Given the description of an element on the screen output the (x, y) to click on. 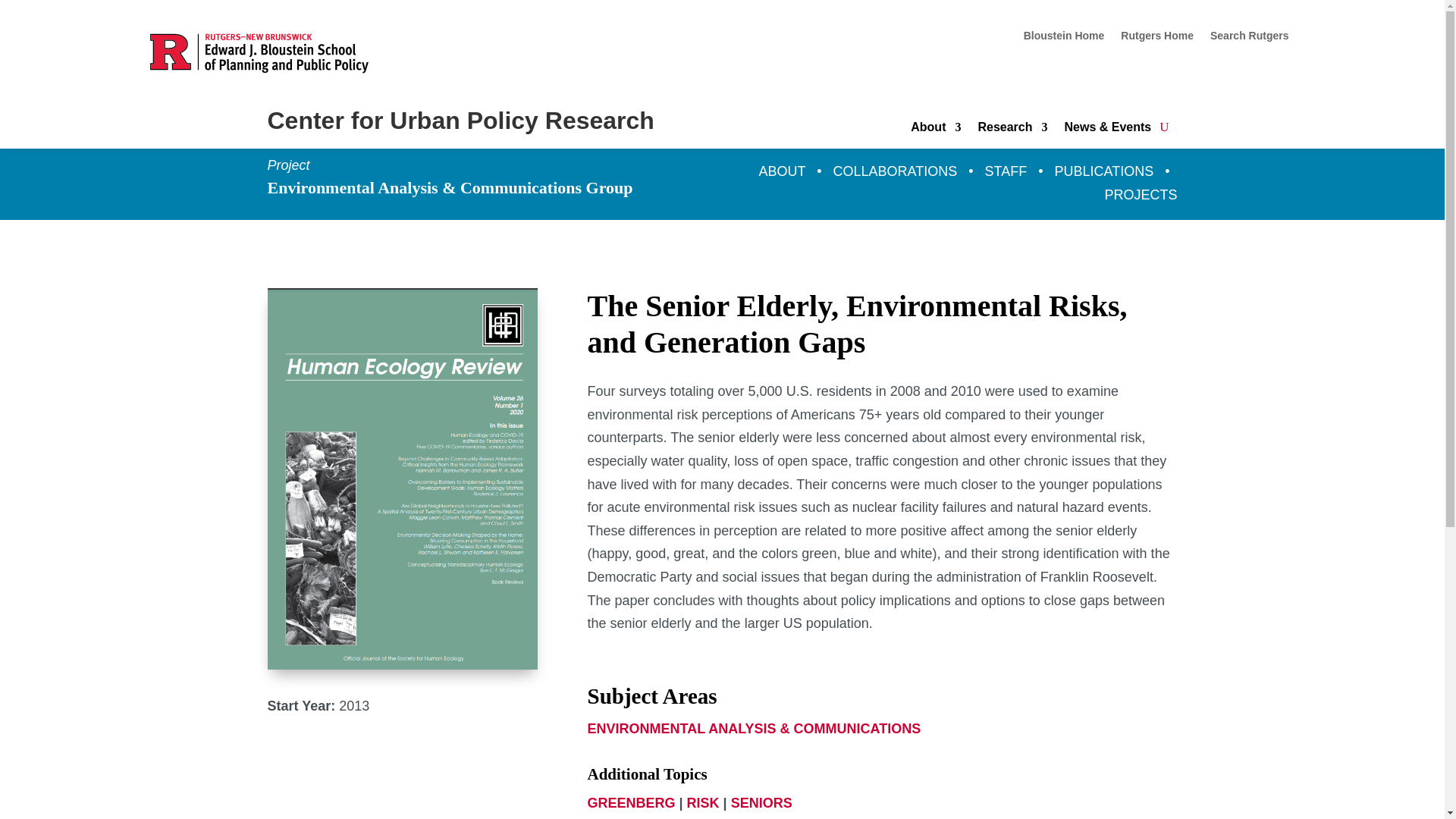
About (935, 130)
Search Rutgers (1248, 38)
Bloustein Home (1064, 38)
Research (1011, 130)
Rutgers Home (1157, 38)
